Given the description of an element on the screen output the (x, y) to click on. 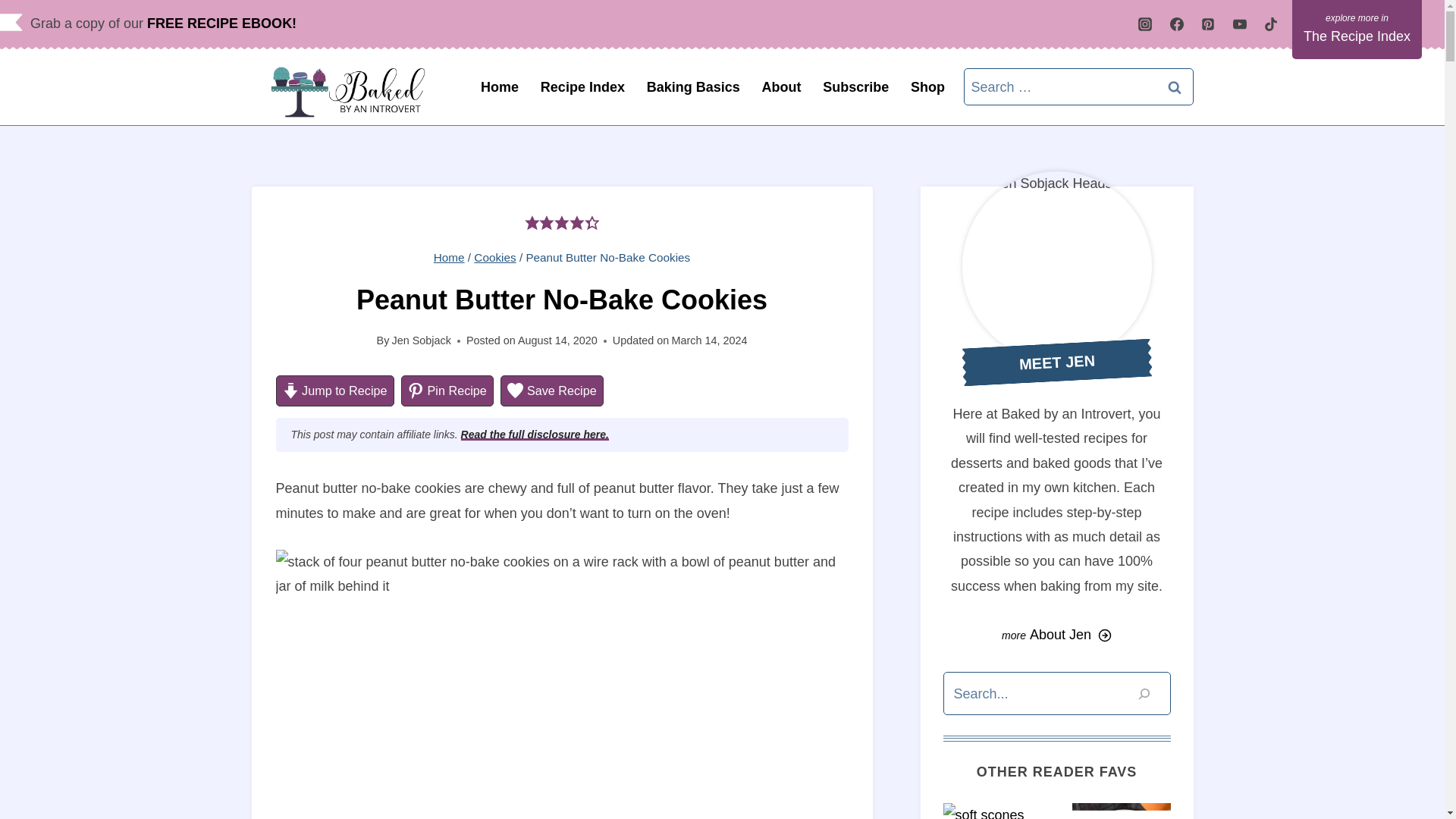
Save Recipe (551, 390)
Search (1174, 86)
Read the full disclosure here. (534, 434)
Search (1174, 86)
Cookies (494, 256)
Jump to Recipe (335, 390)
FREE RECIPE EBOOK! (222, 23)
Search (1174, 86)
Baking Basics (692, 86)
Home (499, 86)
